Given the description of an element on the screen output the (x, y) to click on. 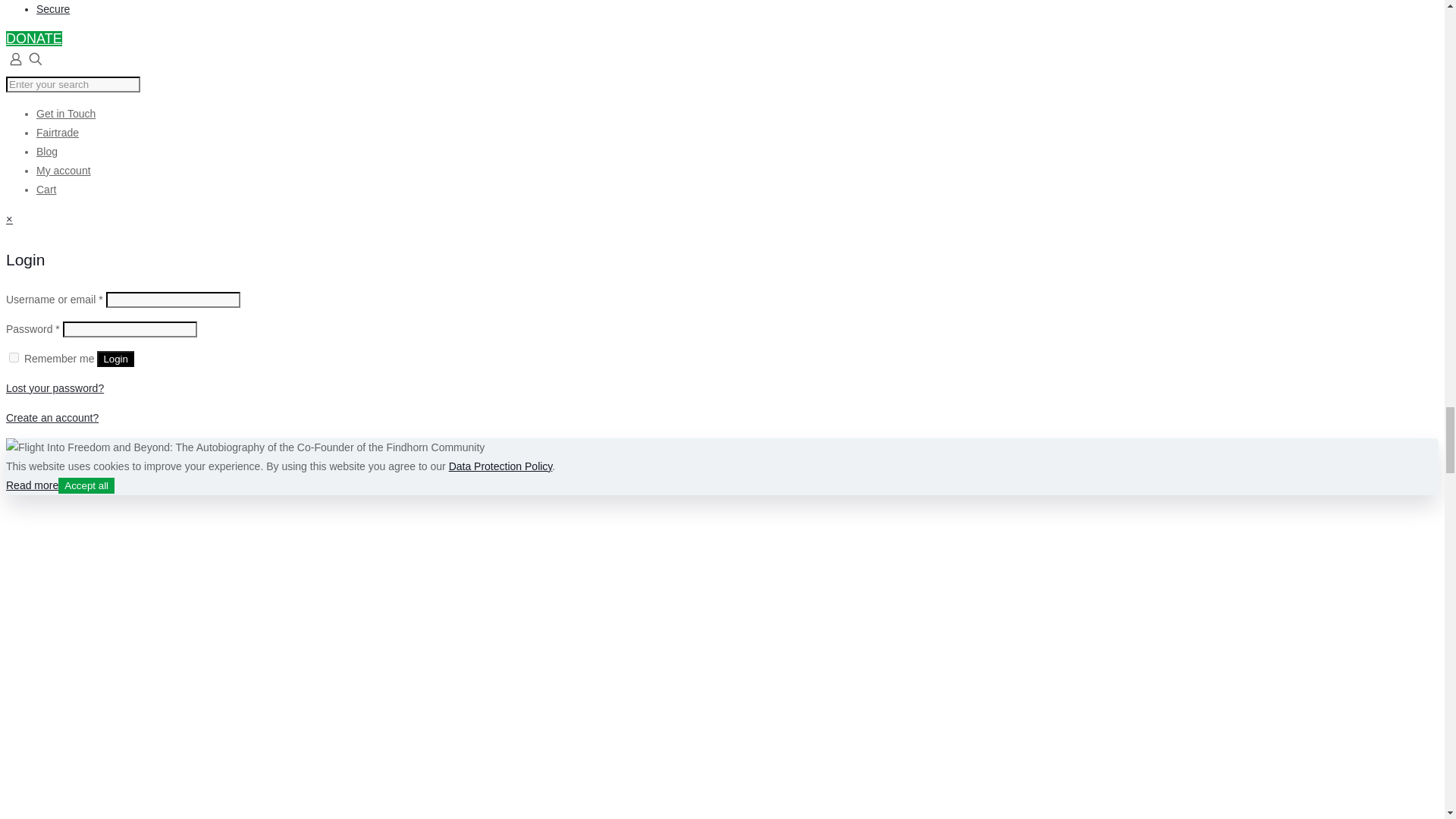
forever (13, 357)
